Given the description of an element on the screen output the (x, y) to click on. 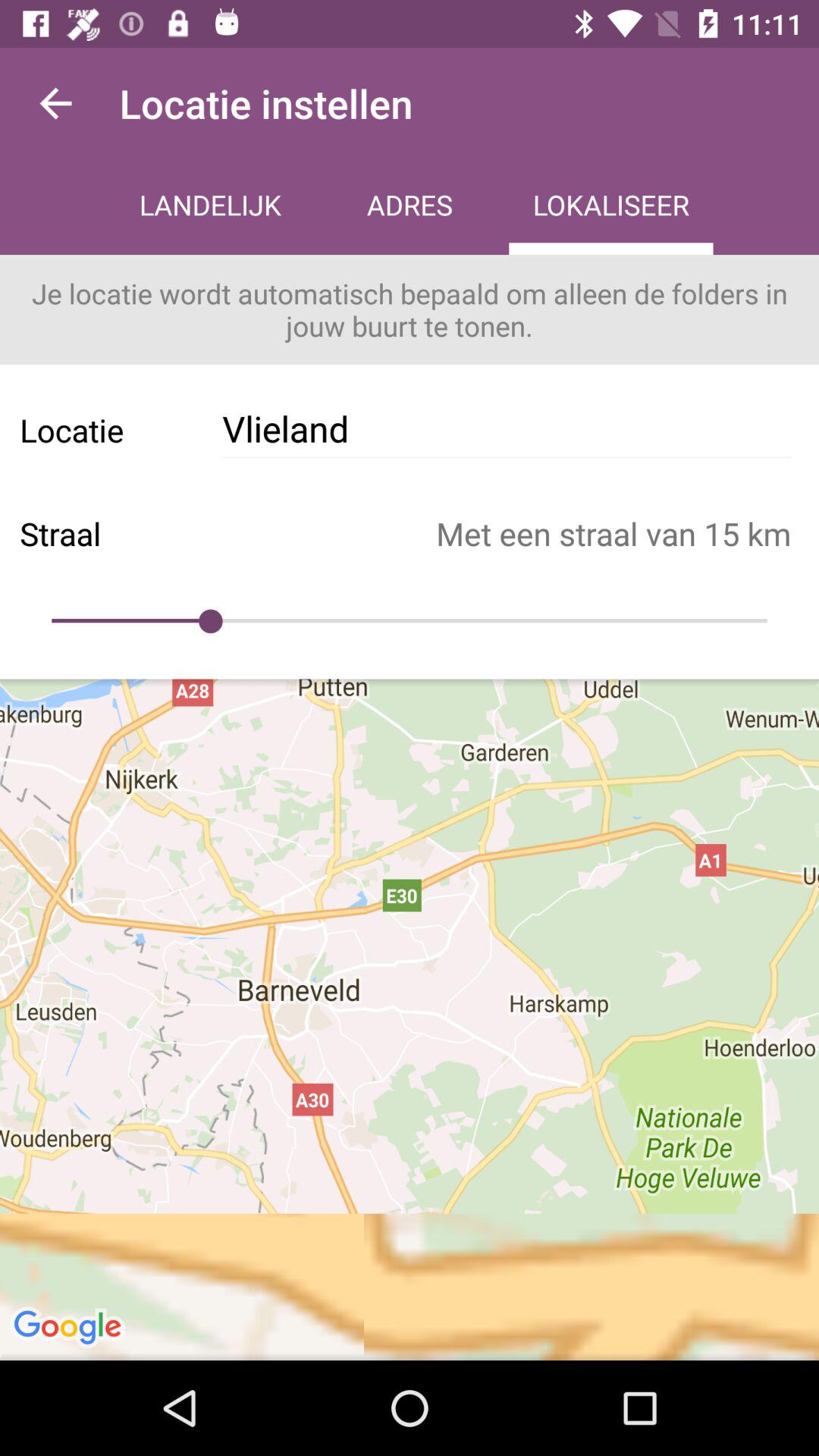
select item to the left of the landelijk item (55, 103)
